Given the description of an element on the screen output the (x, y) to click on. 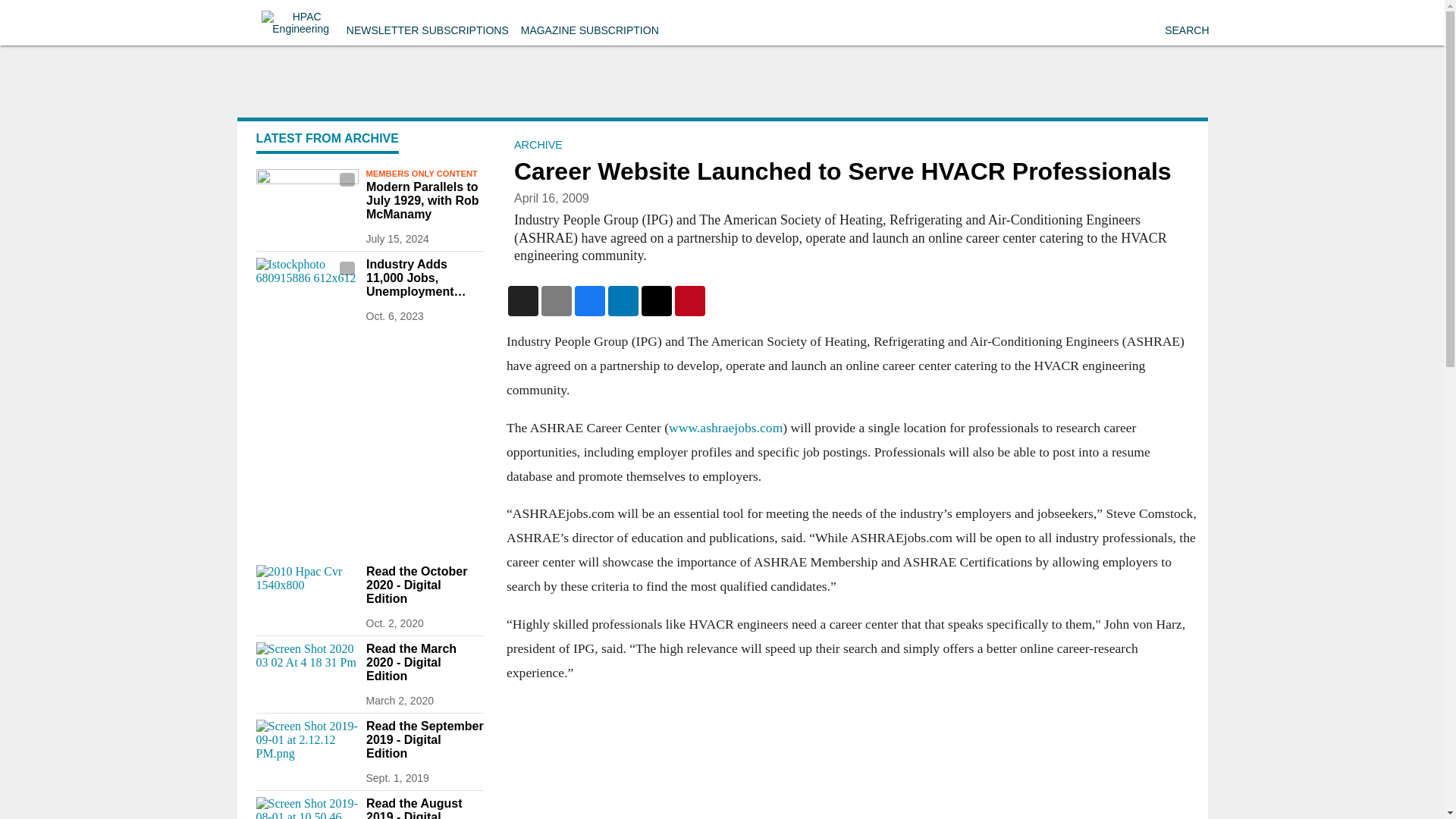
2010 Hpac Cvr 1540x800 (307, 593)
Read the March 2020 - Digital Edition (424, 662)
Screen Shot 2019-09-01 at 2.12.12 PM.png (307, 747)
Industry Adds 11,000 Jobs, Unemployment Remains Low (424, 277)
Istockphoto 680915886 612x612 (307, 285)
SEARCH (1186, 30)
Screen Shot 2020 03 02 At 4 18 31 Pm (307, 670)
Read the August 2019 - Digital Edition (424, 807)
Read the October 2020 - Digital Edition (424, 585)
Screen Shot 2019-08-01 at 10.50.46 AM.png (307, 807)
